Given the description of an element on the screen output the (x, y) to click on. 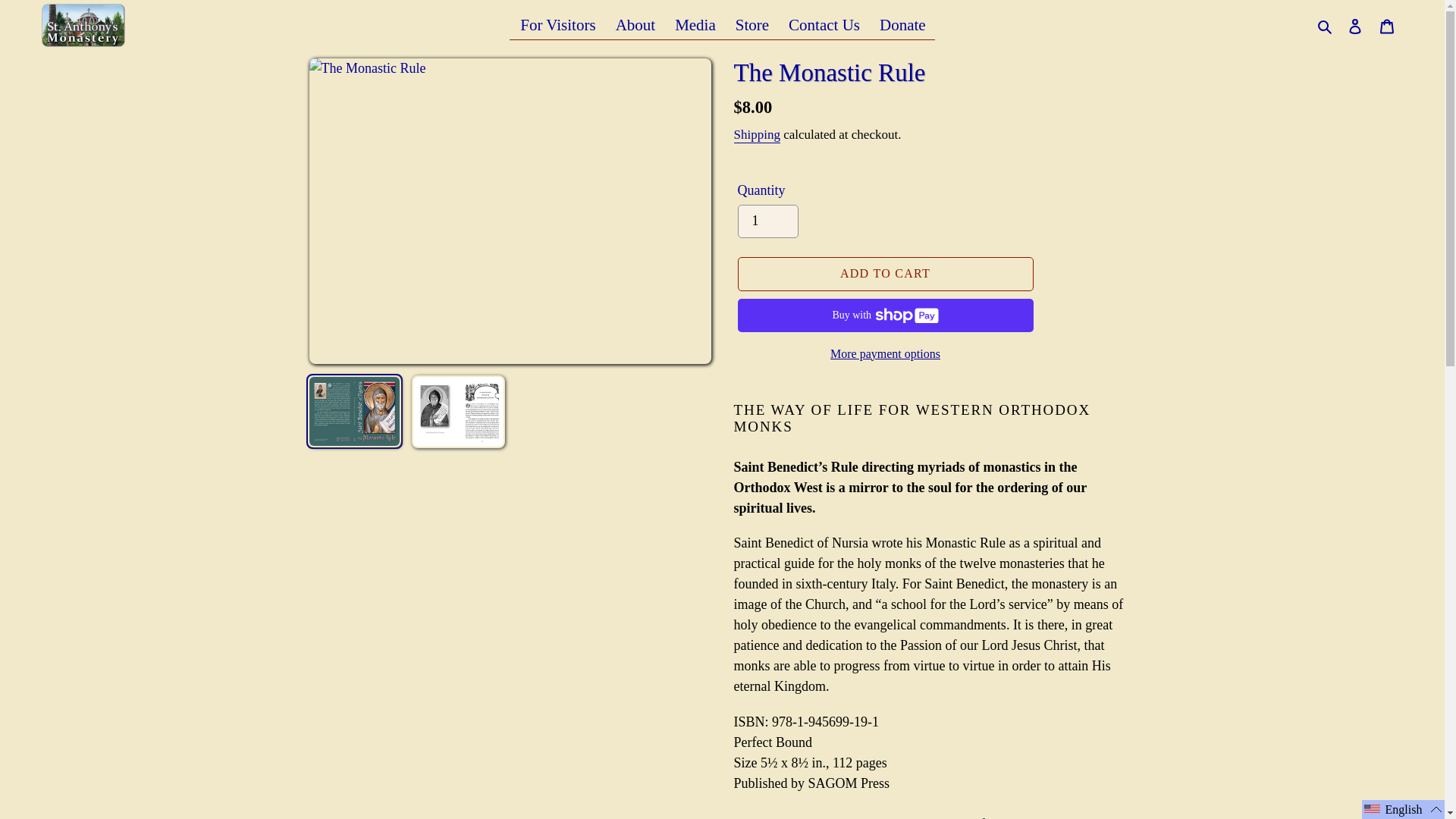
1 (766, 221)
Media (694, 25)
For Visitors (556, 25)
Store (751, 25)
About (635, 25)
